Given the description of an element on the screen output the (x, y) to click on. 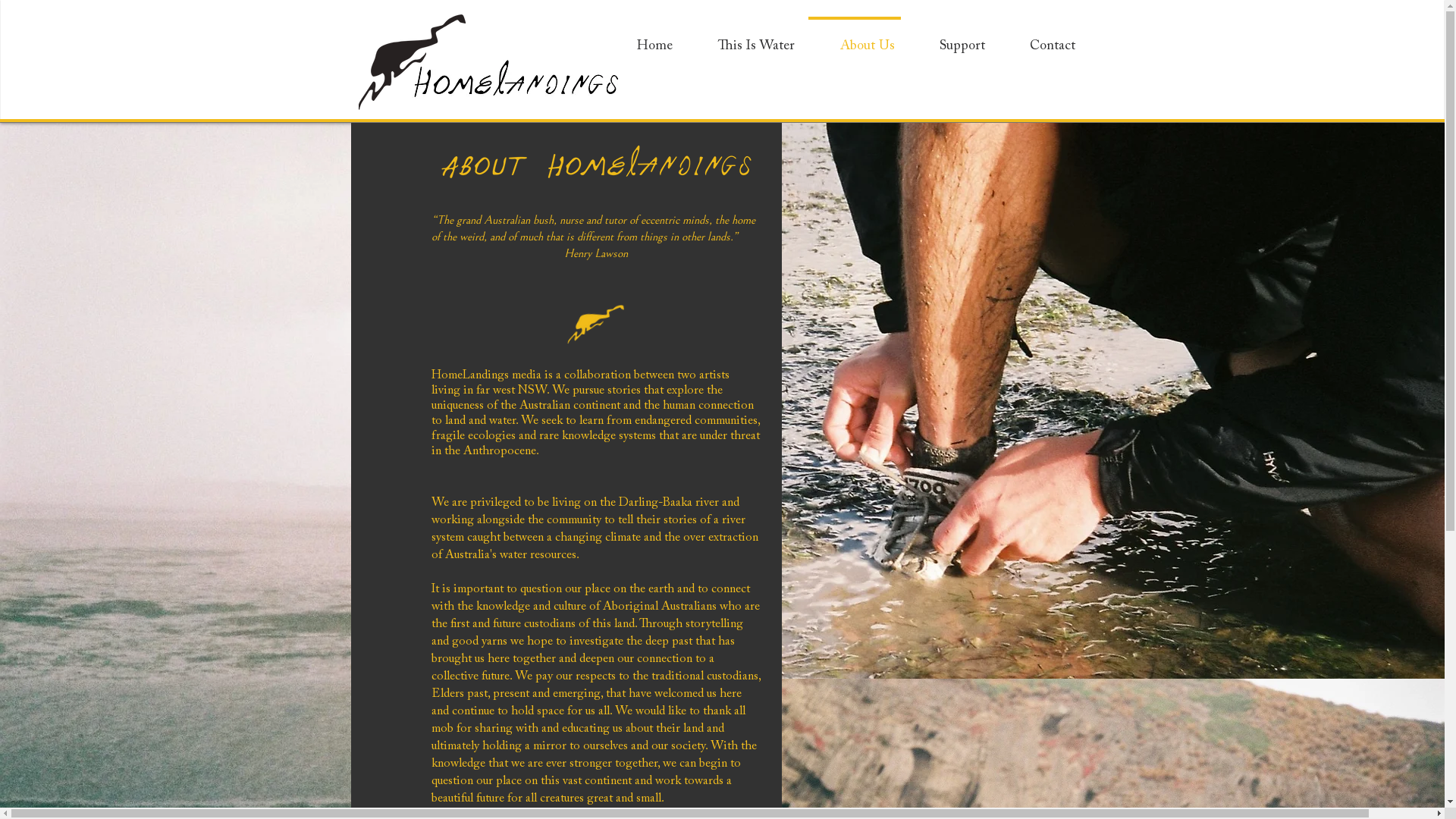
Contact Element type: text (1039, 39)
Support Element type: text (948, 39)
This Is Water Element type: text (743, 39)
Home Element type: text (640, 39)
About Us Element type: text (853, 39)
